Given the description of an element on the screen output the (x, y) to click on. 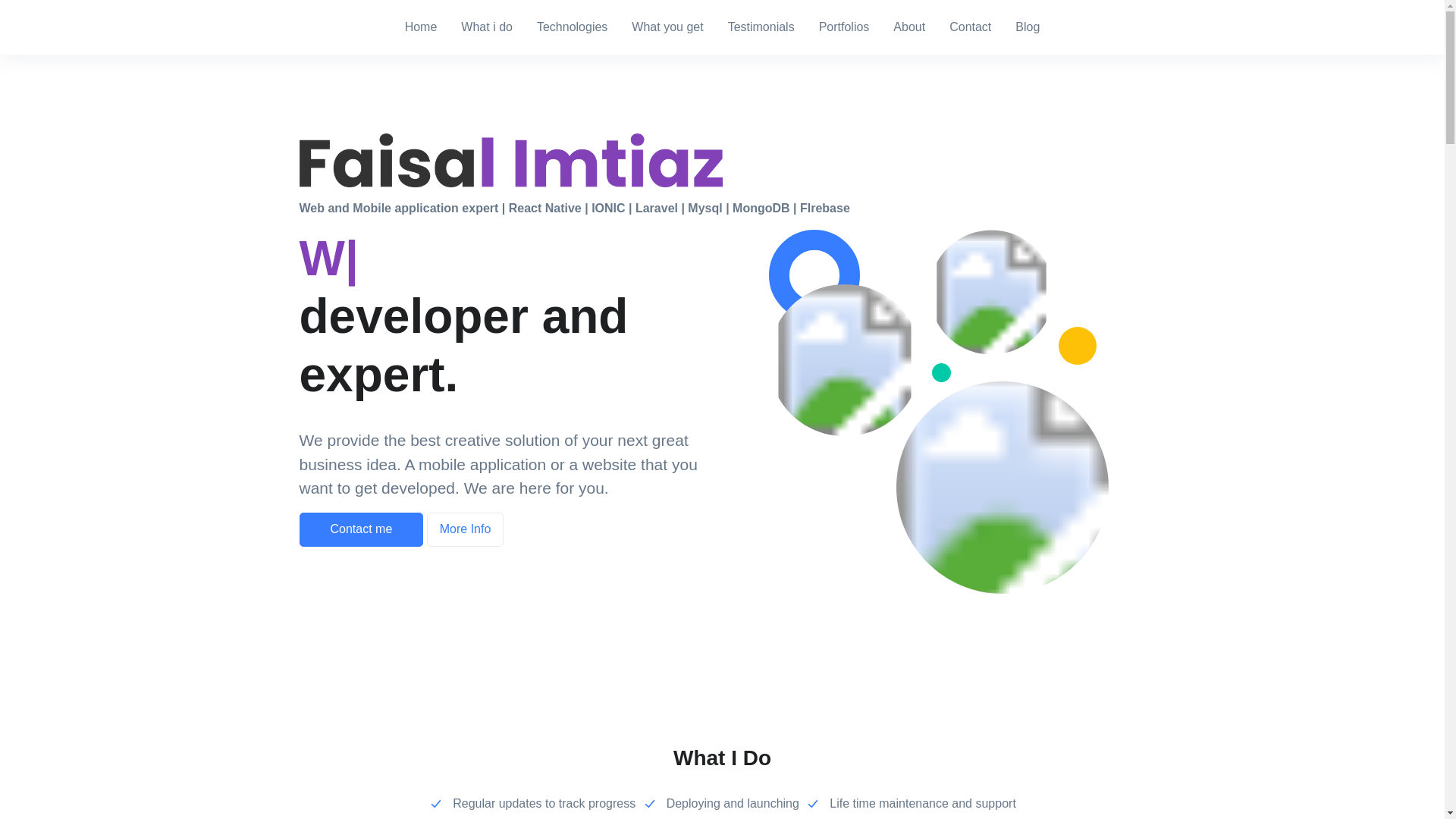
Technologies (571, 26)
About (908, 26)
Contact me (360, 529)
Blog (1027, 26)
What you get (667, 26)
More Info (464, 529)
Testimonials (761, 26)
Contact (970, 26)
Home (421, 26)
